Given the description of an element on the screen output the (x, y) to click on. 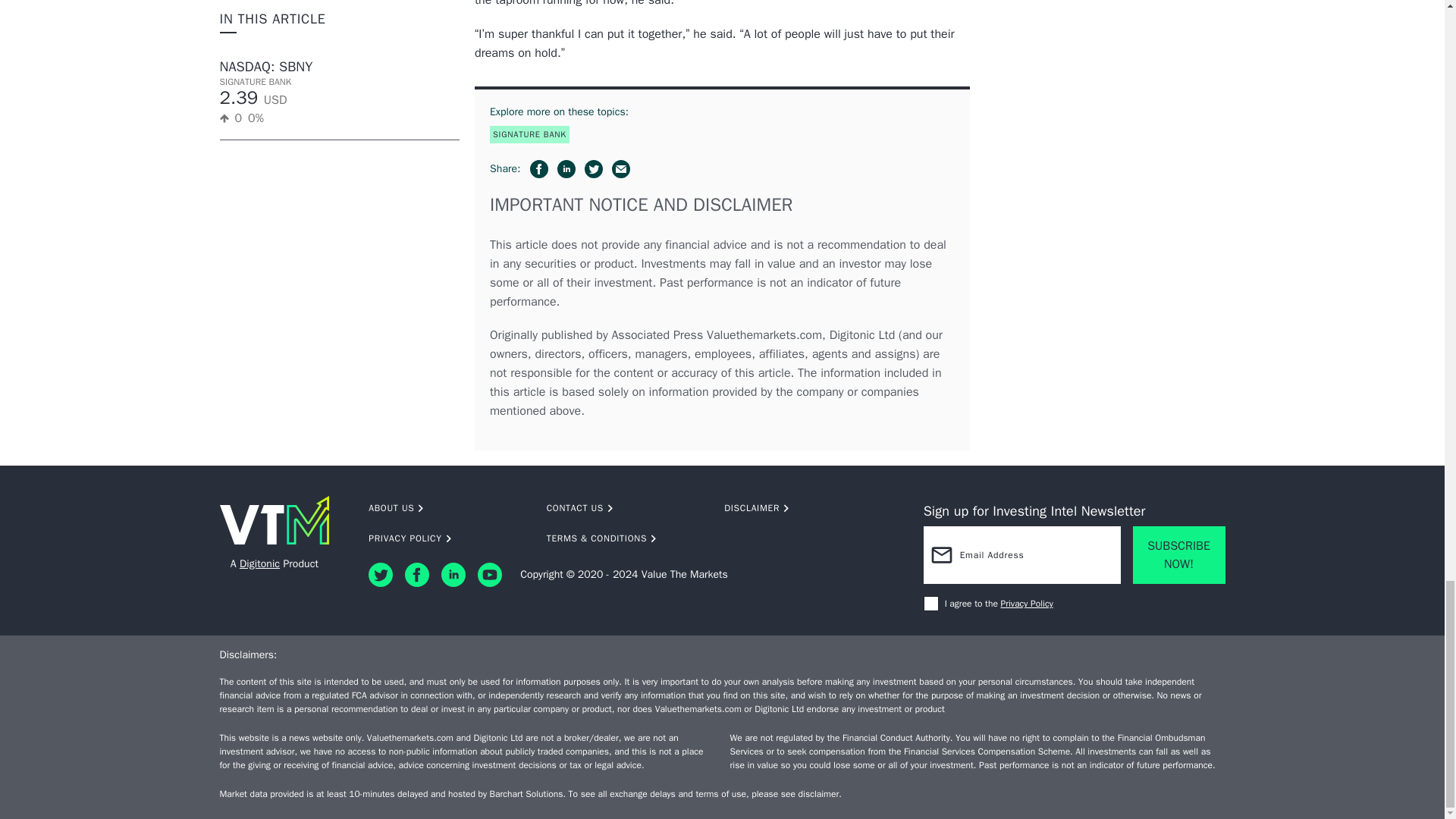
Yes (931, 603)
